Given the description of an element on the screen output the (x, y) to click on. 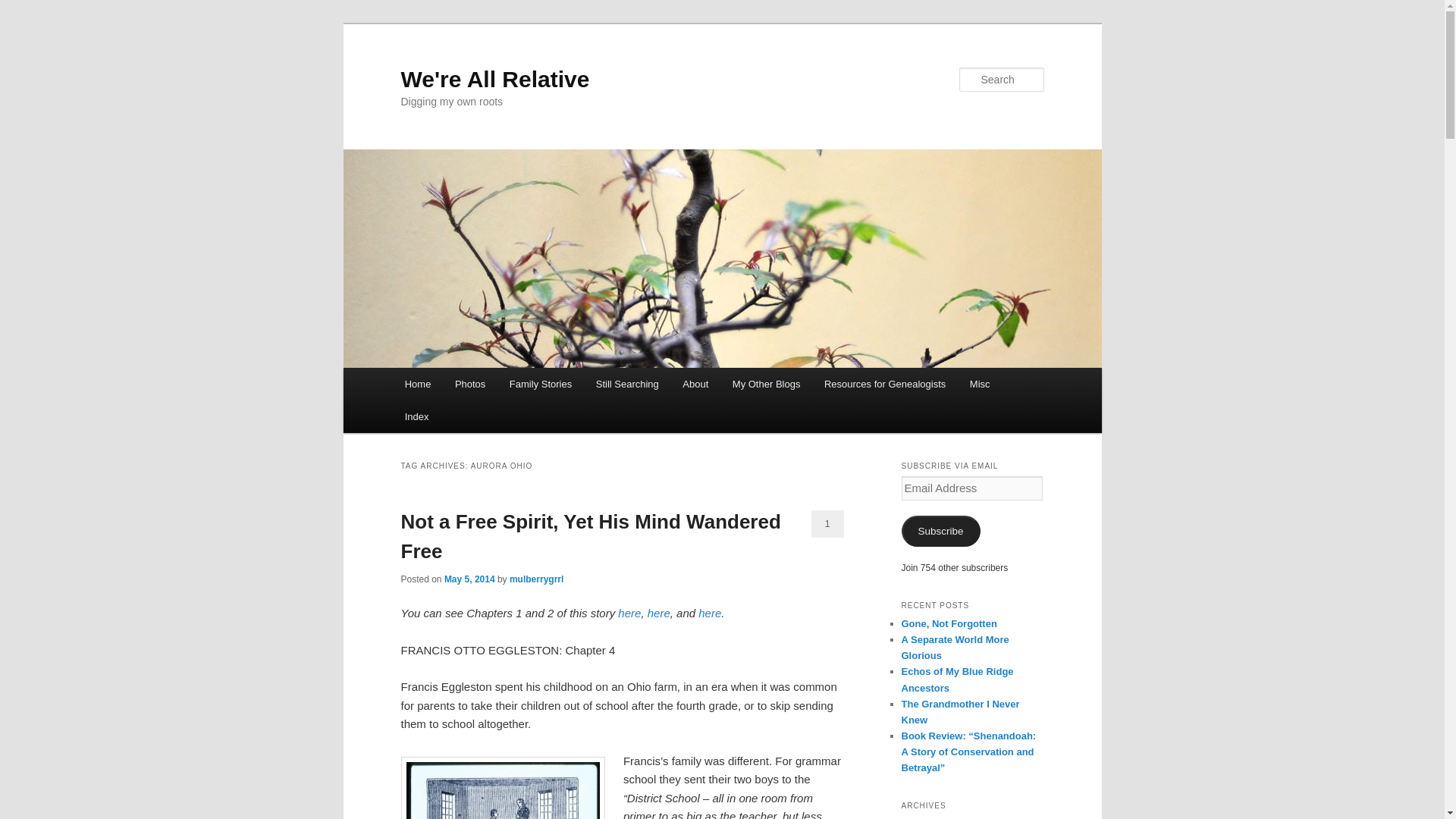
Not a Free Spirit, Yet His Mind Wandered Free (590, 536)
1 (827, 523)
Left Behind When a Parent Dies (709, 612)
Photos (469, 383)
here (628, 612)
Index (417, 416)
Family Stories (540, 383)
My Other Blogs (766, 383)
here (658, 612)
